Given the description of an element on the screen output the (x, y) to click on. 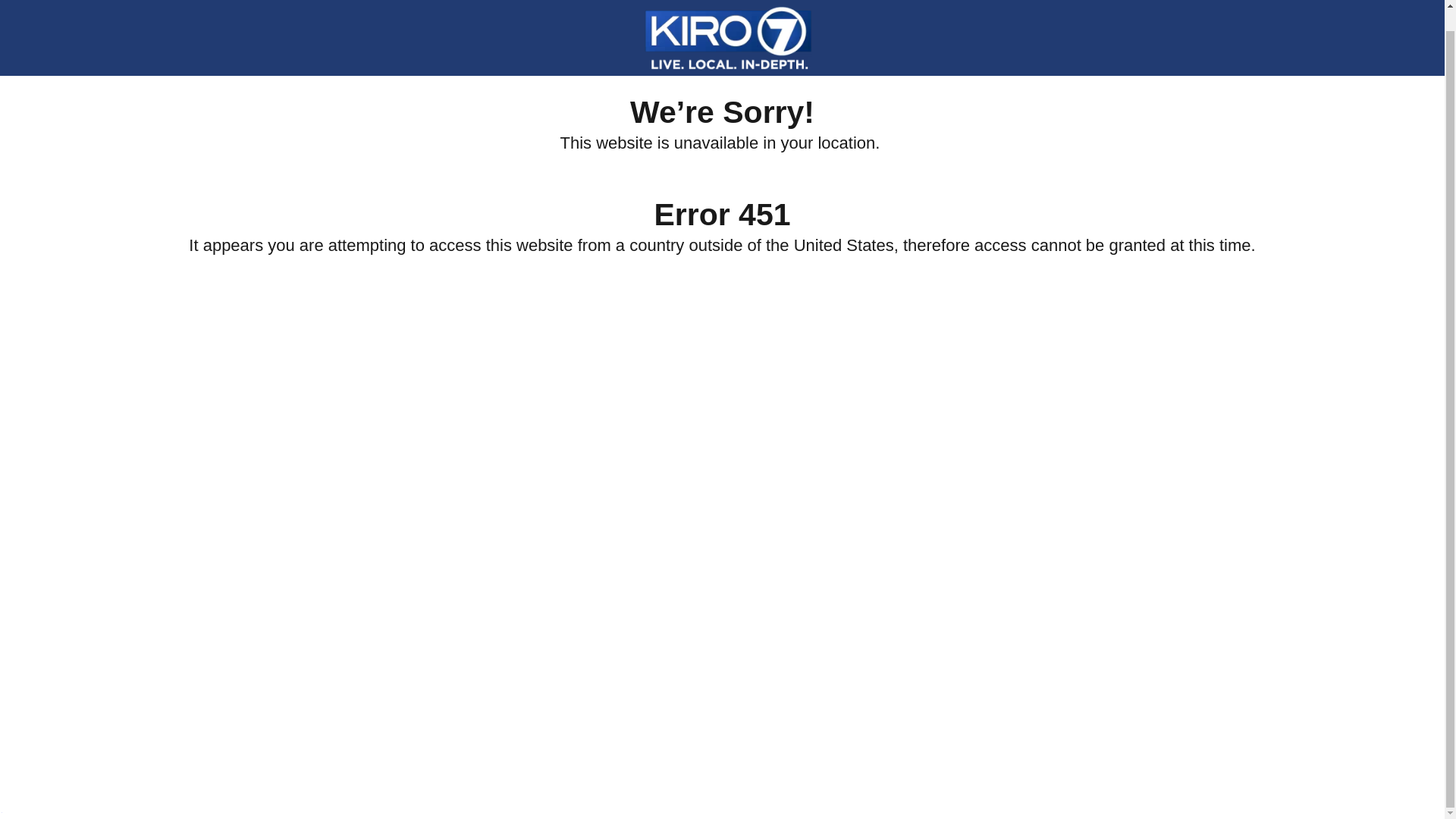
KIRO 7 News Seattle Logo (728, 24)
